Given the description of an element on the screen output the (x, y) to click on. 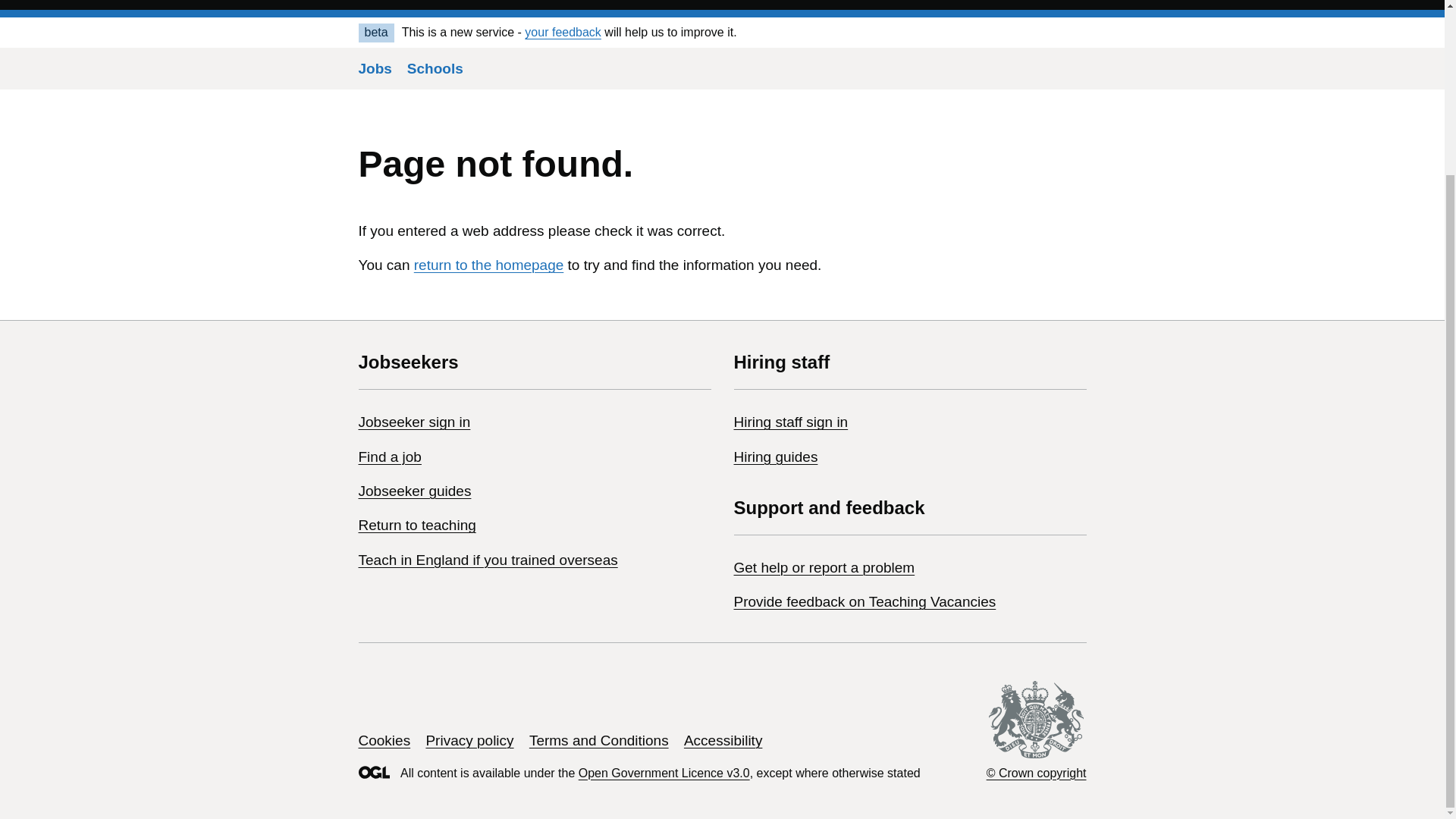
Hiring staff sign in (790, 421)
Privacy policy (469, 740)
Cookies (384, 740)
return to the homepage (488, 264)
Jobseeker sign in (414, 421)
Schools (435, 68)
Get help or report a problem (824, 567)
Find a job (389, 456)
Hiring guides (775, 456)
Return to teaching (417, 524)
